Given the description of an element on the screen output the (x, y) to click on. 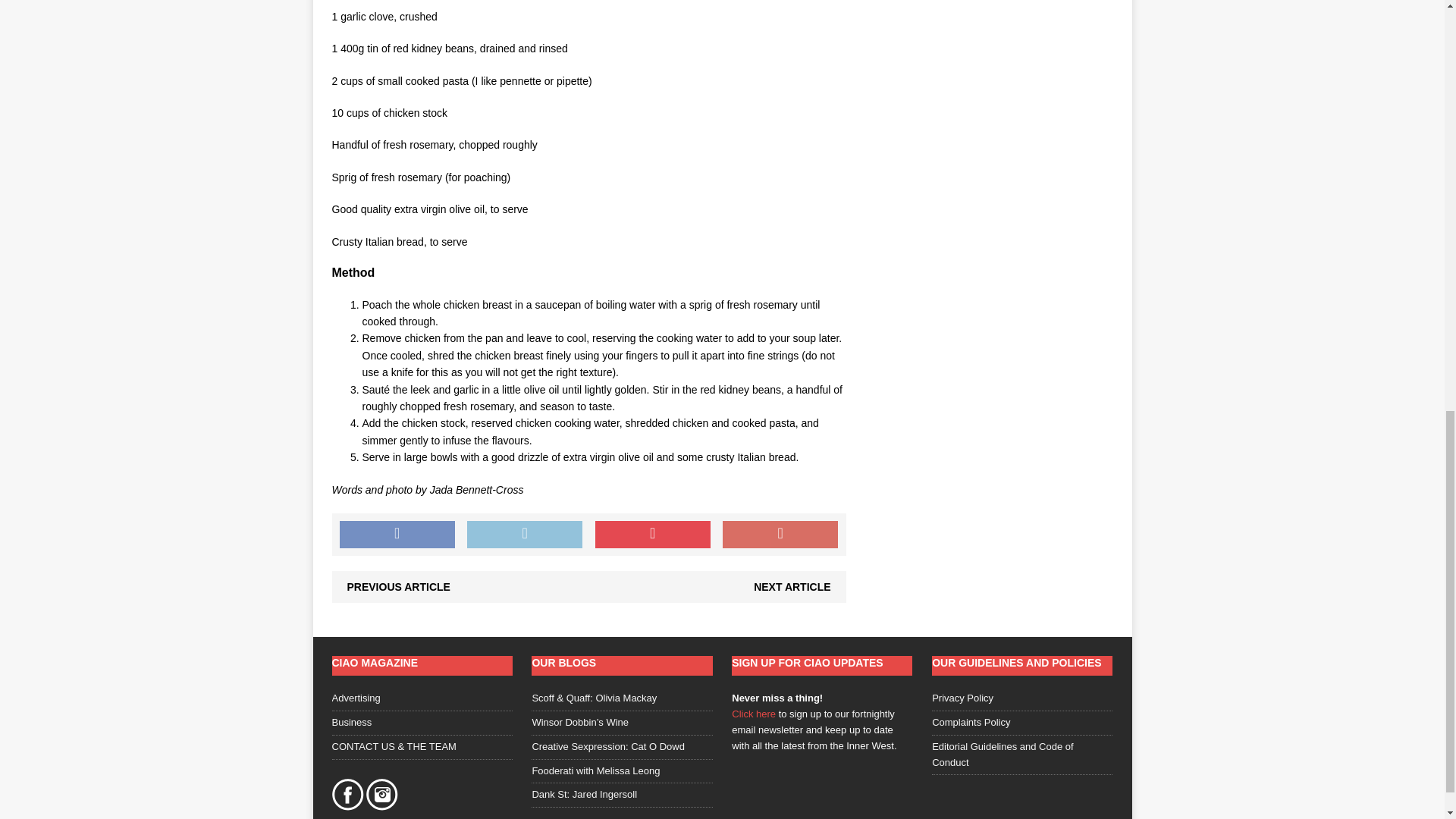
Share on Facebook (396, 533)
Tweet This Post (524, 533)
Pin This Post (652, 533)
